Given the description of an element on the screen output the (x, y) to click on. 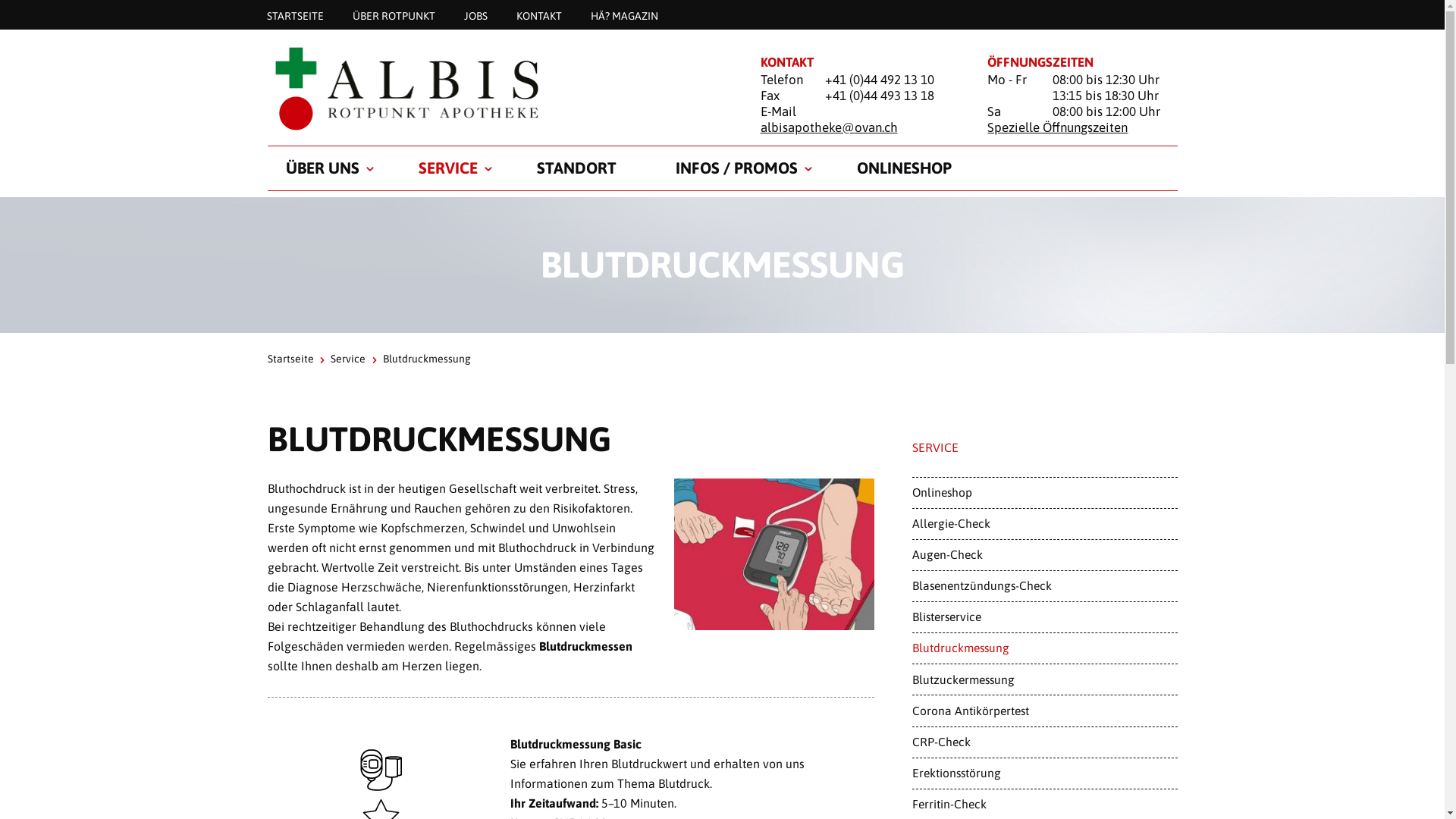
Allergie-Check Element type: text (1043, 523)
Startseite Element type: text (289, 358)
Service Element type: text (347, 358)
Onlineshop Element type: text (1043, 492)
ONLINESHOP Element type: text (903, 168)
Startseite Element type: hover (493, 88)
KONTAKT Element type: text (539, 15)
JOBS Element type: text (475, 15)
STANDORT Element type: text (576, 168)
INFOS / PROMOS Element type: text (735, 168)
Blisterservice Element type: text (1043, 617)
SERVICE Element type: text (447, 168)
Augen-Check Element type: text (1043, 554)
Blutdruckmessung Element type: text (1043, 648)
CRP-Check Element type: text (1043, 741)
STARTSEITE Element type: text (294, 15)
Blutzuckermessung Element type: text (1043, 679)
albisapotheke@ovan.ch Element type: text (828, 126)
